Given the description of an element on the screen output the (x, y) to click on. 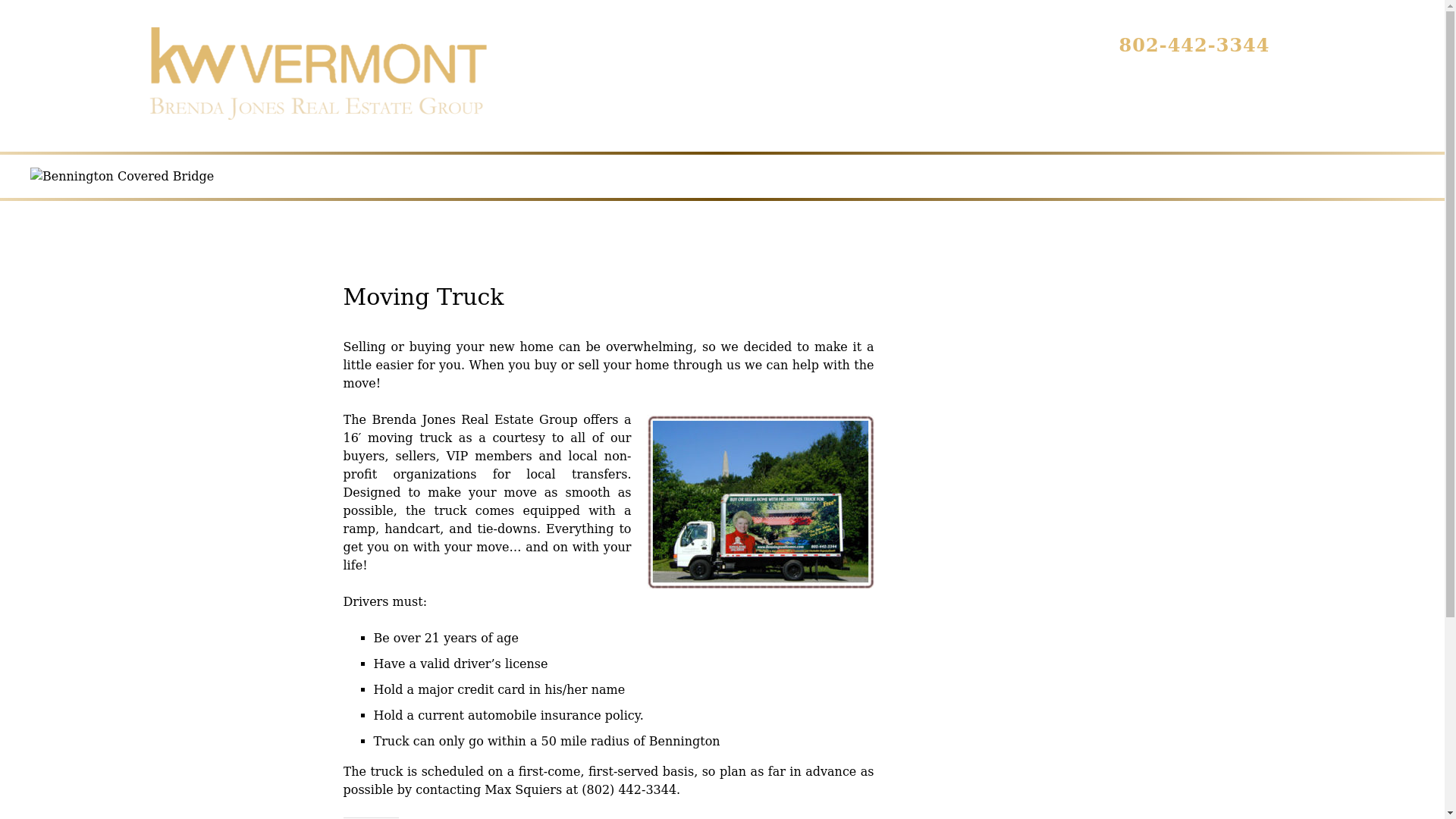
Moving Resources (784, 108)
Buyers (922, 108)
Search (647, 108)
Home (555, 108)
Sellers (1017, 108)
